Given the description of an element on the screen output the (x, y) to click on. 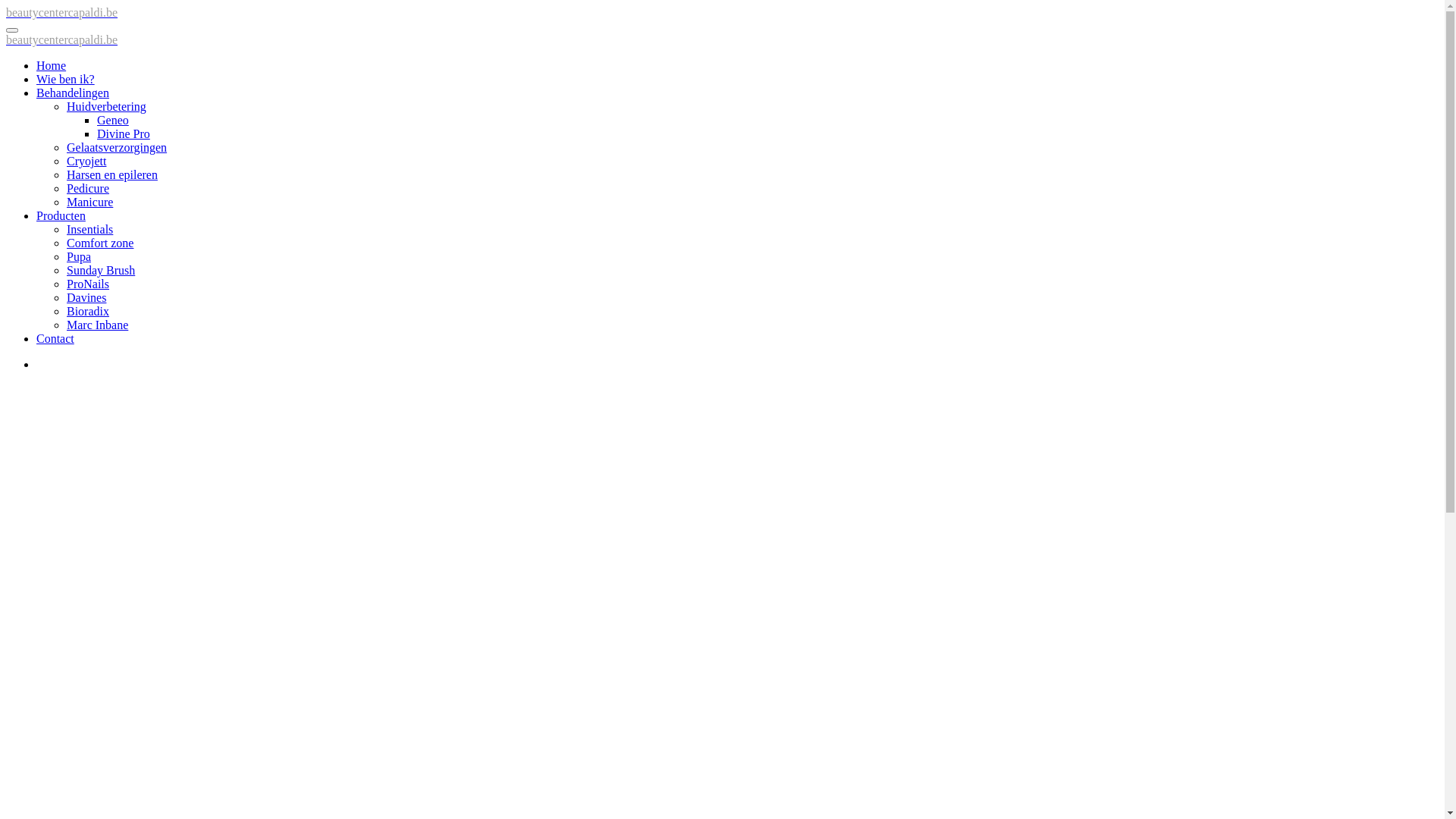
beautycentercapaldi.be Element type: text (61, 39)
Pedicure Element type: text (87, 188)
Wie ben ik? Element type: text (65, 78)
Contact Element type: text (55, 338)
Behandelingen Element type: text (72, 92)
beautycentercapaldi.be Element type: text (61, 12)
Pupa Element type: text (78, 256)
Manicure Element type: text (89, 201)
Gelaatsverzorgingen Element type: text (116, 147)
Comfort zone Element type: text (99, 242)
Geneo Element type: text (112, 119)
Davines Element type: text (86, 297)
Marc Inbane Element type: text (97, 324)
Home Element type: text (50, 65)
Insentials Element type: text (89, 228)
Harsen en epileren Element type: text (111, 174)
ProNails Element type: text (87, 283)
Divine Pro Element type: text (123, 133)
Bioradix Element type: text (87, 310)
Cryojett Element type: text (86, 160)
Sunday Brush Element type: text (100, 269)
Huidverbetering Element type: text (106, 106)
Producten Element type: text (60, 215)
